Given the description of an element on the screen output the (x, y) to click on. 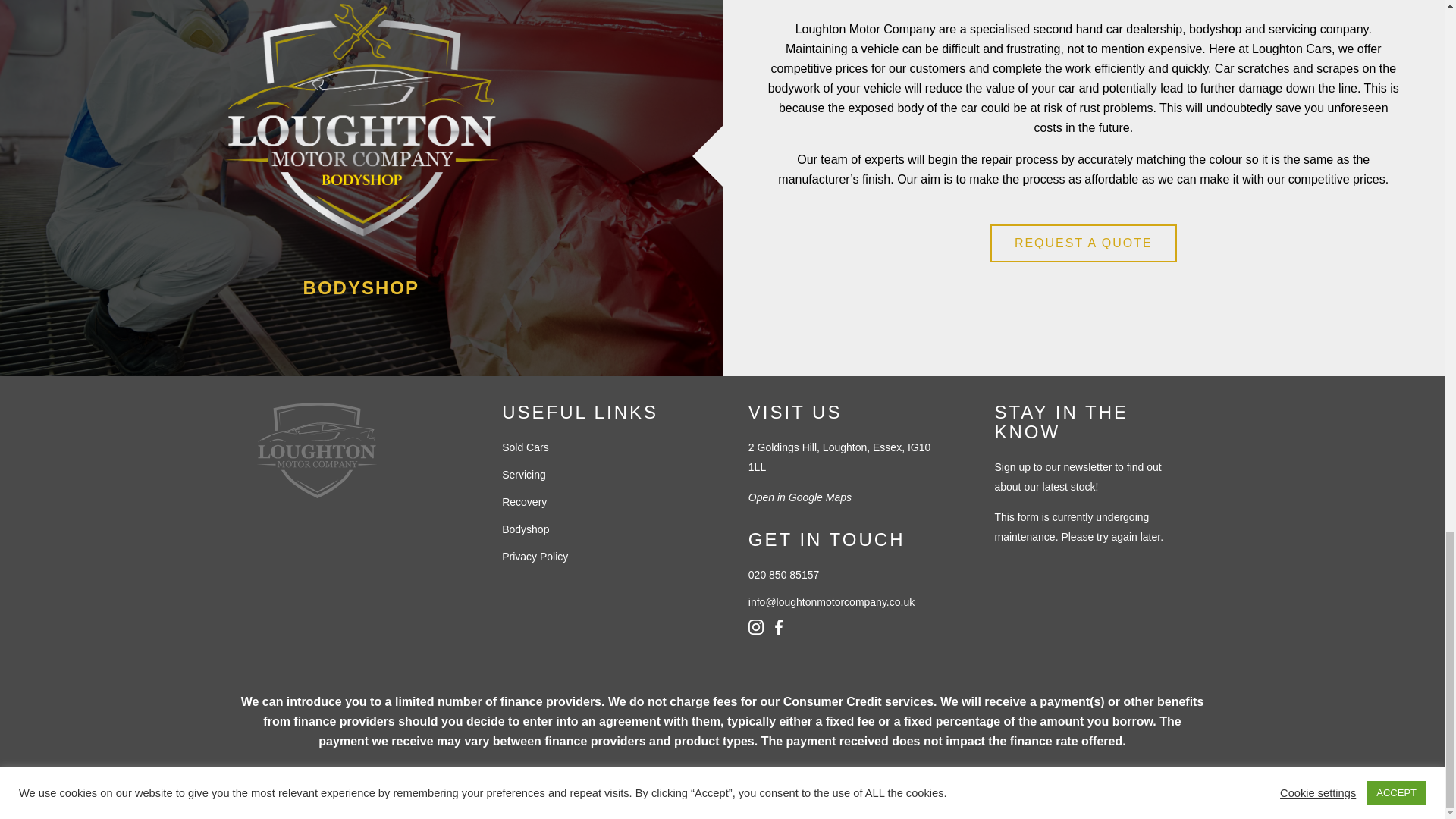
REQUEST A QUOTE (1083, 243)
Sold Cars (598, 447)
Servicing (598, 474)
Bodyshop (598, 528)
020 850 85157 (845, 574)
Privacy Policy (598, 556)
Recovery (598, 501)
Open in Google Maps (845, 496)
